Given the description of an element on the screen output the (x, y) to click on. 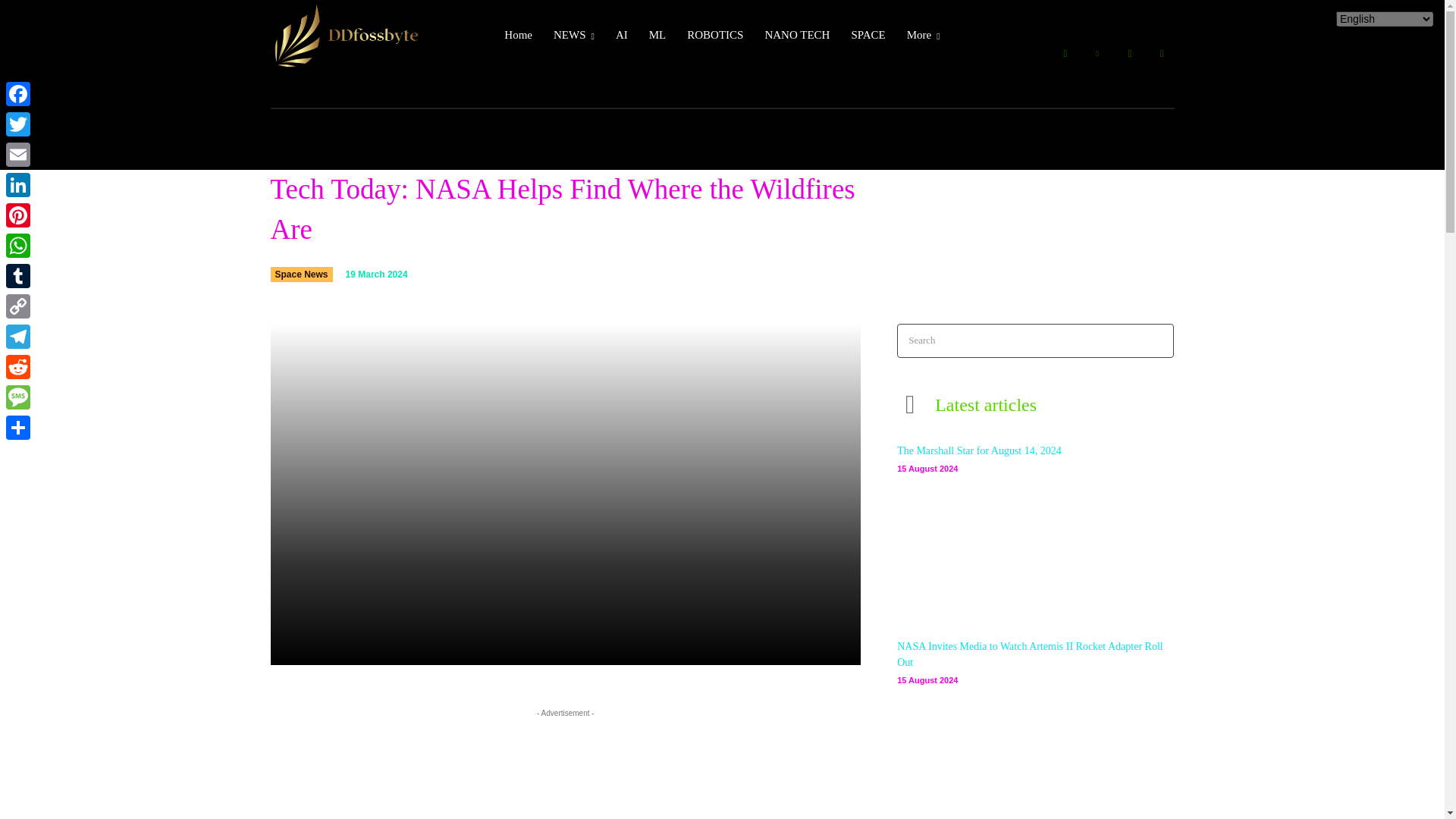
Linkedin (1096, 53)
Facebook (1064, 53)
Medium (1130, 53)
Twitter (1162, 53)
Advertisement (566, 770)
